Given the description of an element on the screen output the (x, y) to click on. 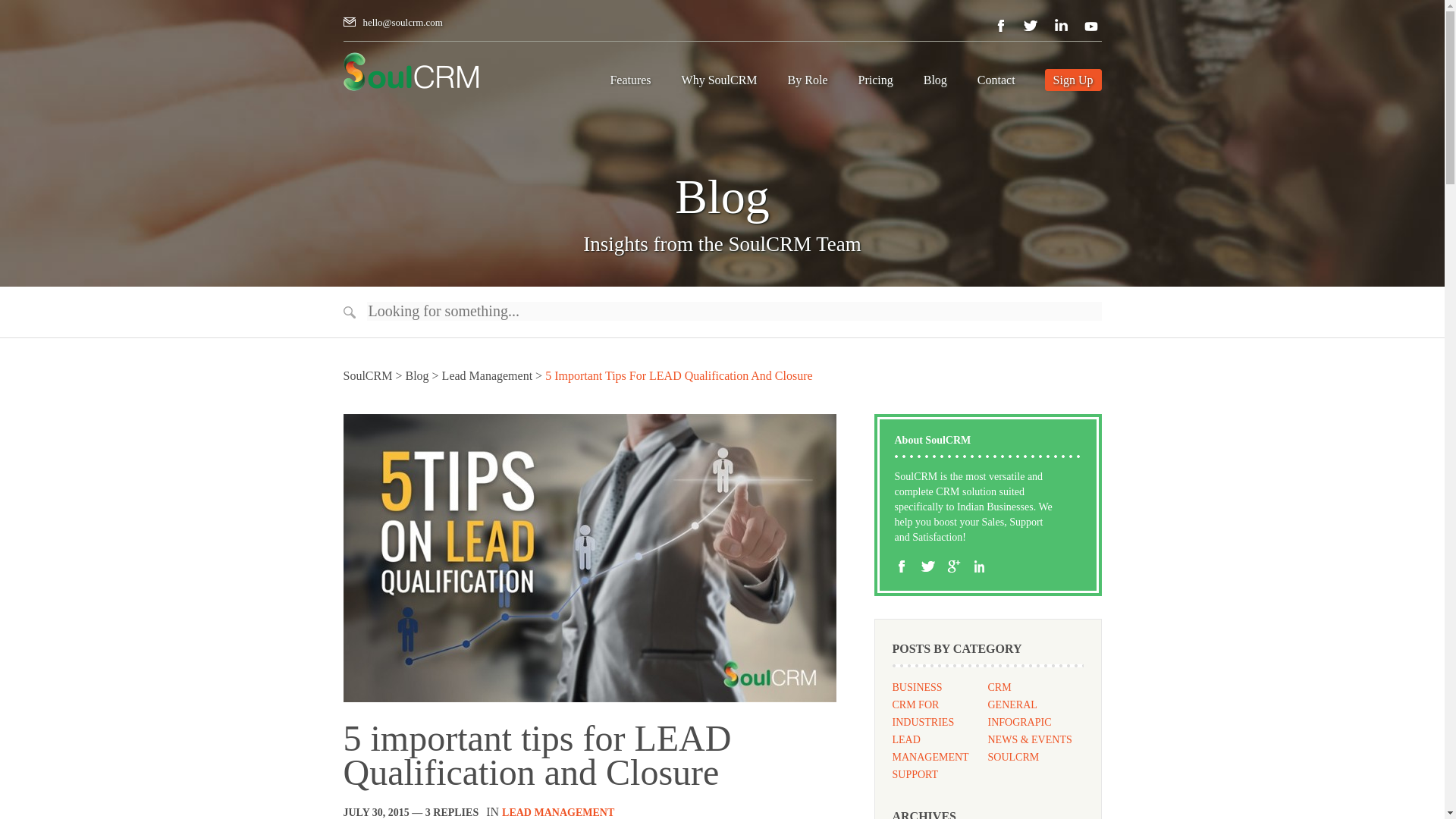
Go to SoulCRM. (366, 375)
Go to the Lead Management category archives. (487, 375)
By Role (807, 82)
Go to Blog. (416, 375)
Contact (996, 82)
11:22 am (375, 812)
Sign Up (1073, 79)
Blog (935, 82)
Why SoulCRM (719, 82)
Features (629, 82)
Pricing (875, 82)
